Given the description of an element on the screen output the (x, y) to click on. 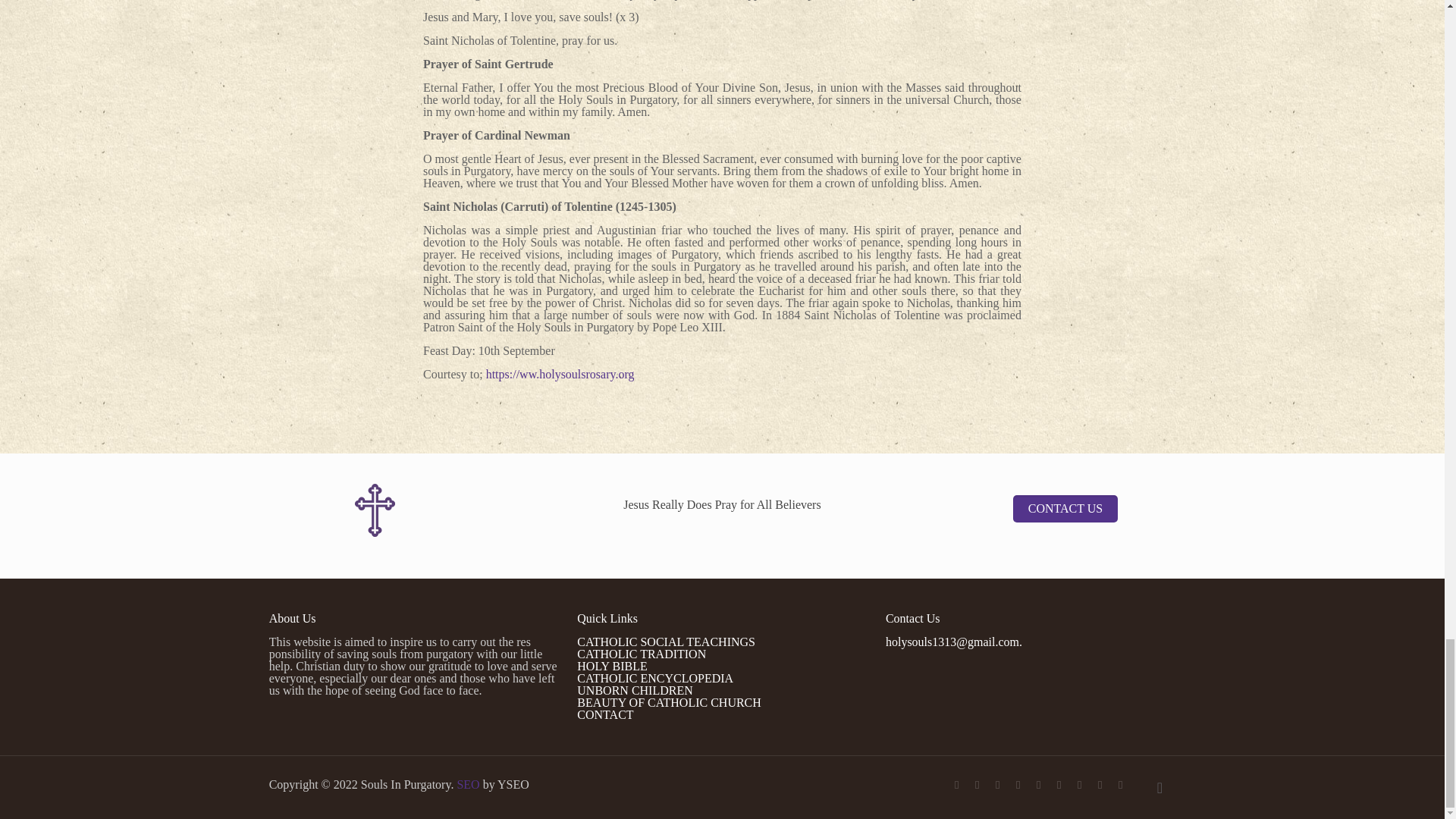
Skype (956, 784)
LinkedIn (1079, 784)
Facebook (977, 784)
Vimeo (1018, 784)
Flickr (1059, 784)
Behance (1120, 784)
Twitter (998, 784)
Instagram (1100, 784)
YouTube (1038, 784)
